Given the description of an element on the screen output the (x, y) to click on. 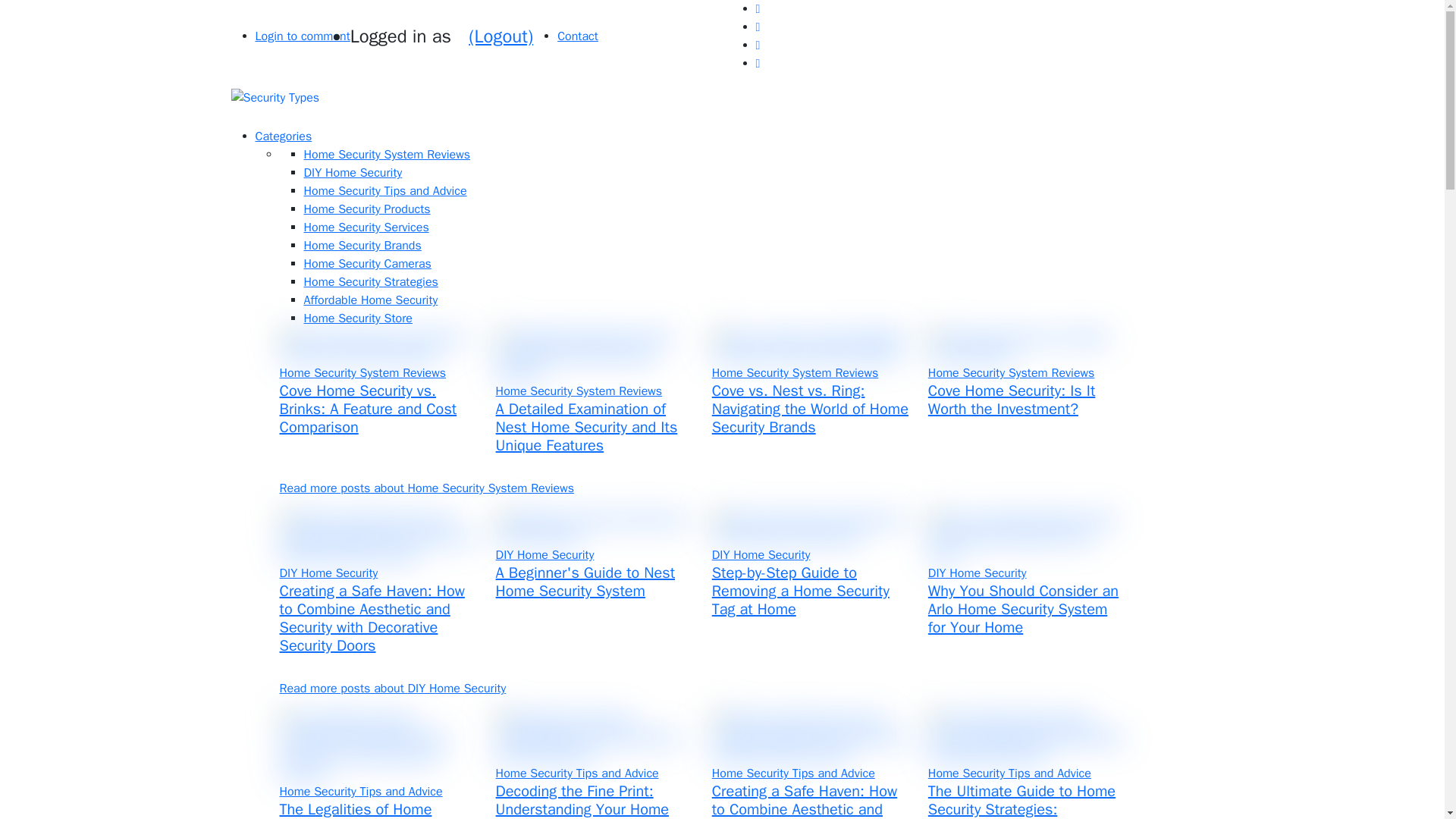
DIY Home Security (328, 572)
DIY Home Security (351, 172)
Contact (577, 36)
Affordable Home Security (370, 299)
Home Security System Reviews (386, 154)
Home Security Store (357, 318)
Cove Home Security vs. Brinks: A Feature and Cost Comparison (368, 408)
A Beginner's Guide to Nest Home Security System (585, 581)
Home Security System Reviews (1011, 372)
